Given the description of an element on the screen output the (x, y) to click on. 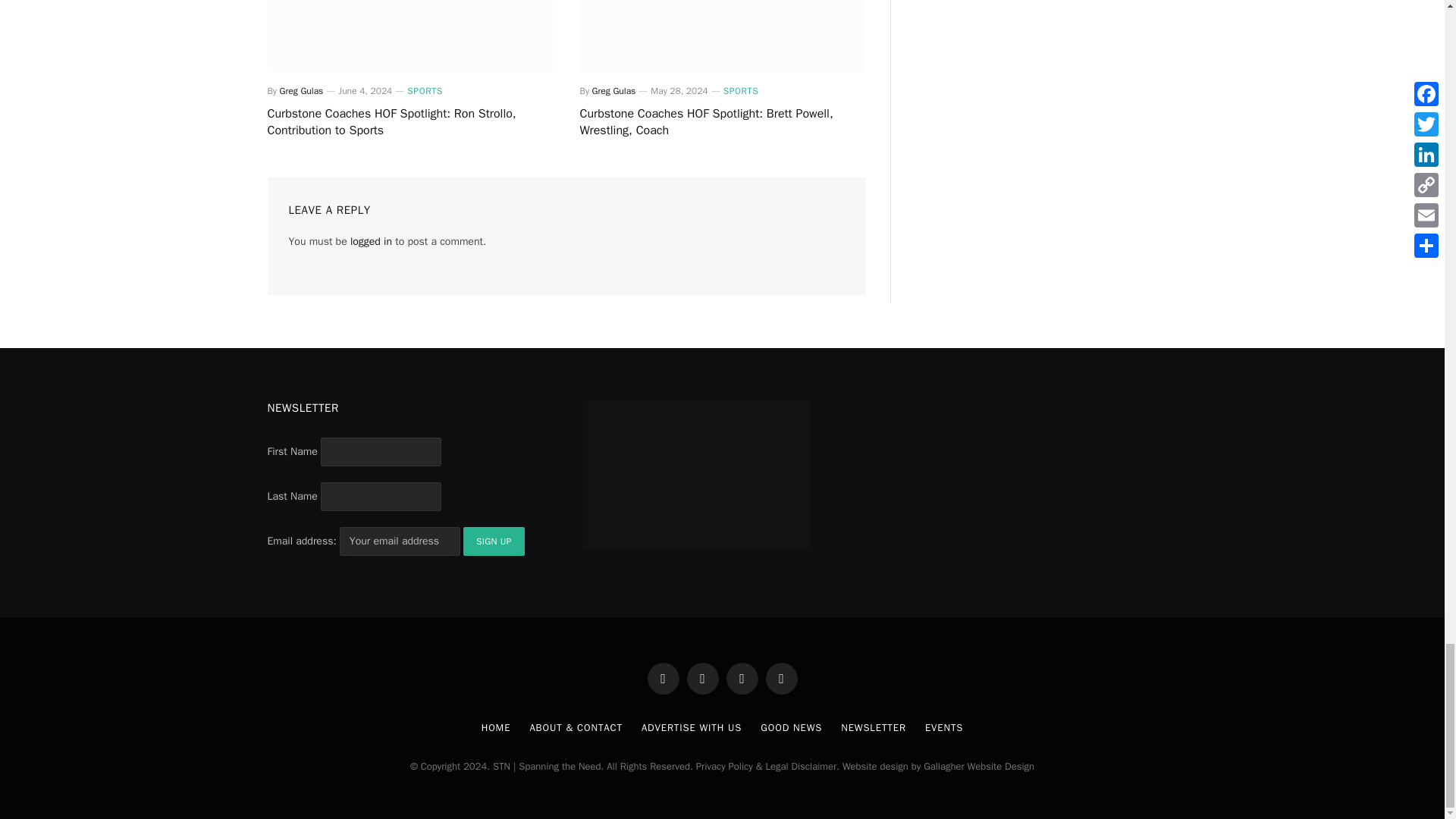
Sign up (493, 541)
